Given the description of an element on the screen output the (x, y) to click on. 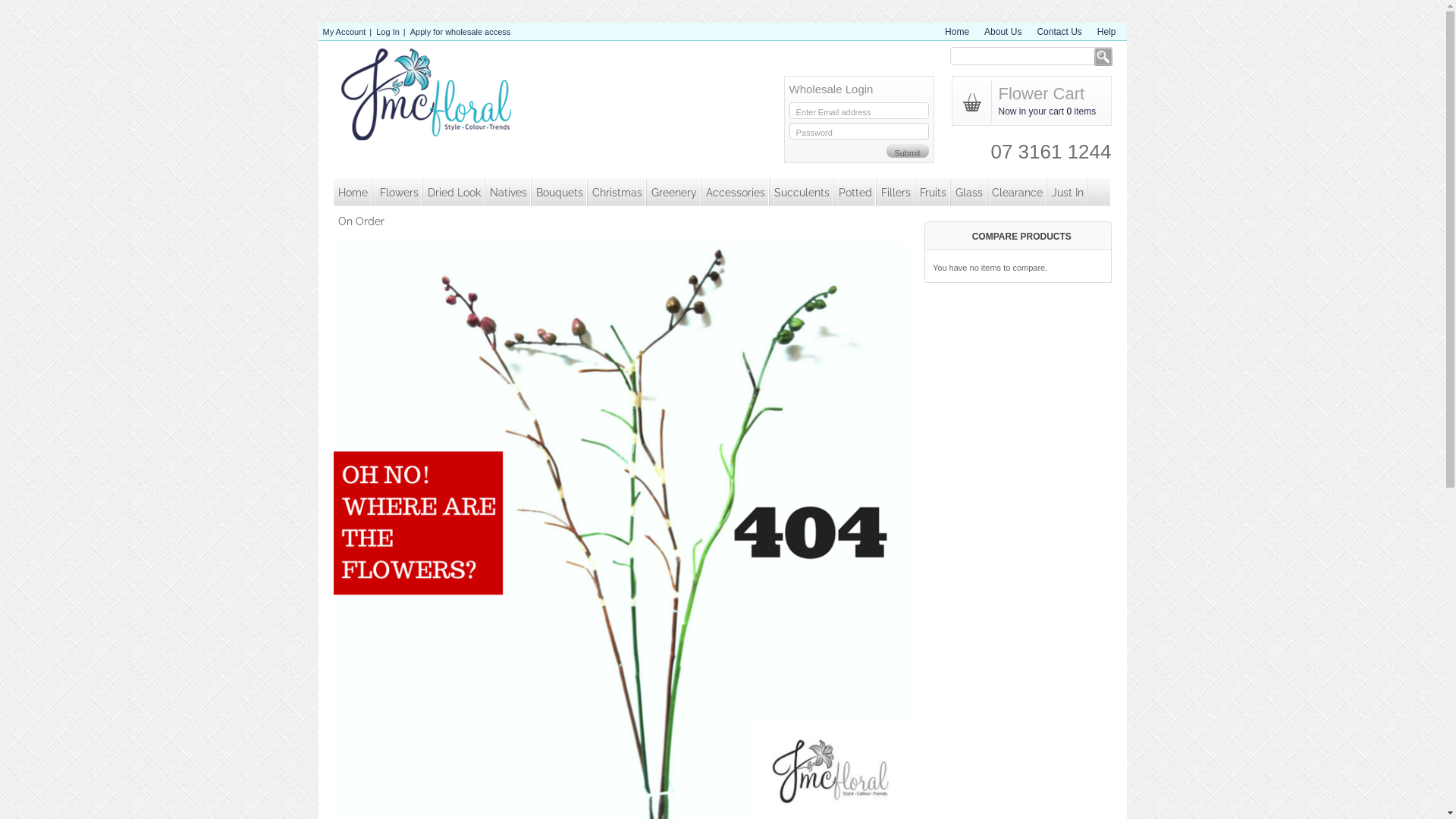
Glass Element type: text (968, 192)
Succulents Element type: text (800, 192)
Flower Cart Element type: text (1040, 93)
Clearance Element type: text (1017, 192)
Home Element type: text (352, 192)
Home Element type: text (961, 31)
Log In Element type: text (387, 31)
Bouquets Element type: text (558, 192)
Apply for wholesale access Element type: text (460, 31)
Contact Us Element type: text (1063, 31)
Potted Element type: text (855, 192)
My Account Element type: text (343, 31)
Just In Element type: text (1066, 192)
Dried Look Element type: text (454, 192)
Flowers Element type: text (398, 192)
About Us Element type: text (1007, 31)
Fillers Element type: text (895, 192)
Submit Element type: text (906, 156)
Christmas Element type: text (616, 192)
Accessories Element type: text (734, 192)
Greenery Element type: text (673, 192)
0 Element type: text (1069, 111)
Fruits Element type: text (932, 192)
Natives Element type: text (508, 192)
On Order Element type: text (361, 221)
Help Element type: text (1111, 31)
